Given the description of an element on the screen output the (x, y) to click on. 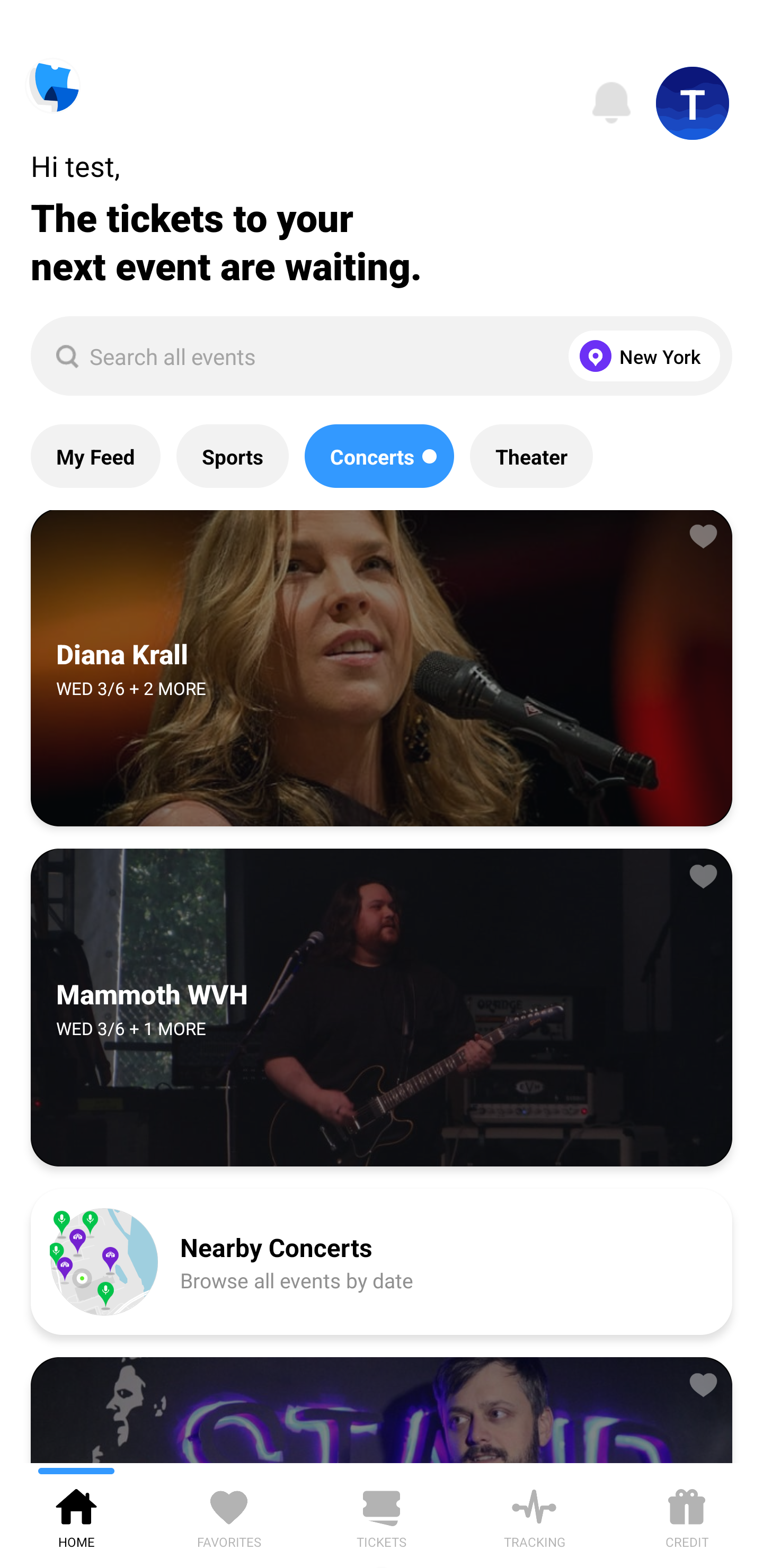
T (692, 103)
New York (640, 355)
My Feed (95, 455)
Sports (232, 455)
Concerts (378, 455)
Theater (531, 455)
HOME (76, 1515)
FAVORITES (228, 1515)
TICKETS (381, 1515)
TRACKING (533, 1515)
CREDIT (686, 1515)
